Given the description of an element on the screen output the (x, y) to click on. 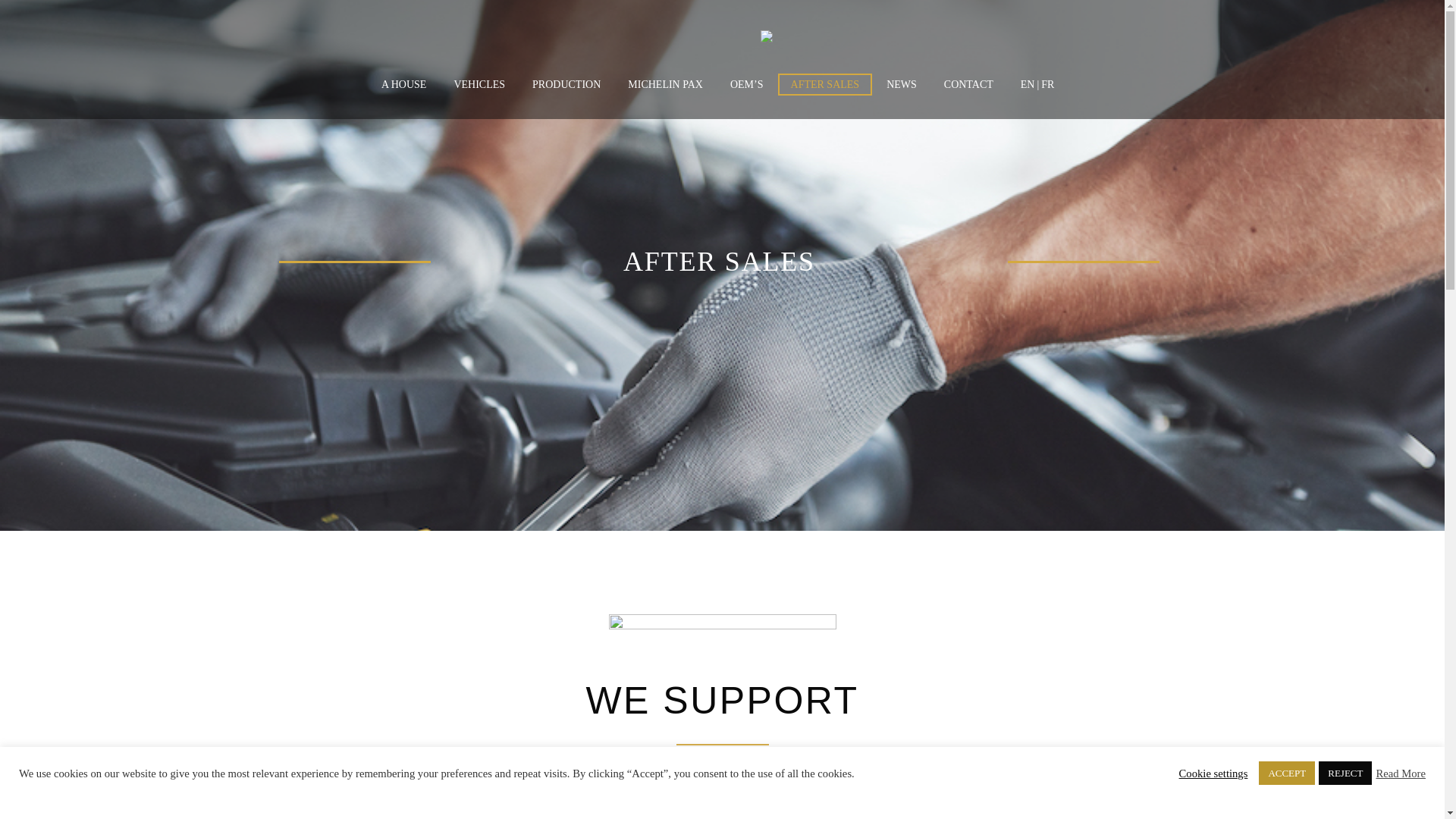
A HOUSE (403, 84)
EN (1022, 84)
CONTACT (968, 84)
NEWS (901, 84)
VEHICLES (479, 84)
FR (1053, 84)
PRODUCTION (566, 84)
AFTER SALES (824, 84)
MICHELIN PAX (664, 84)
